Given the description of an element on the screen output the (x, y) to click on. 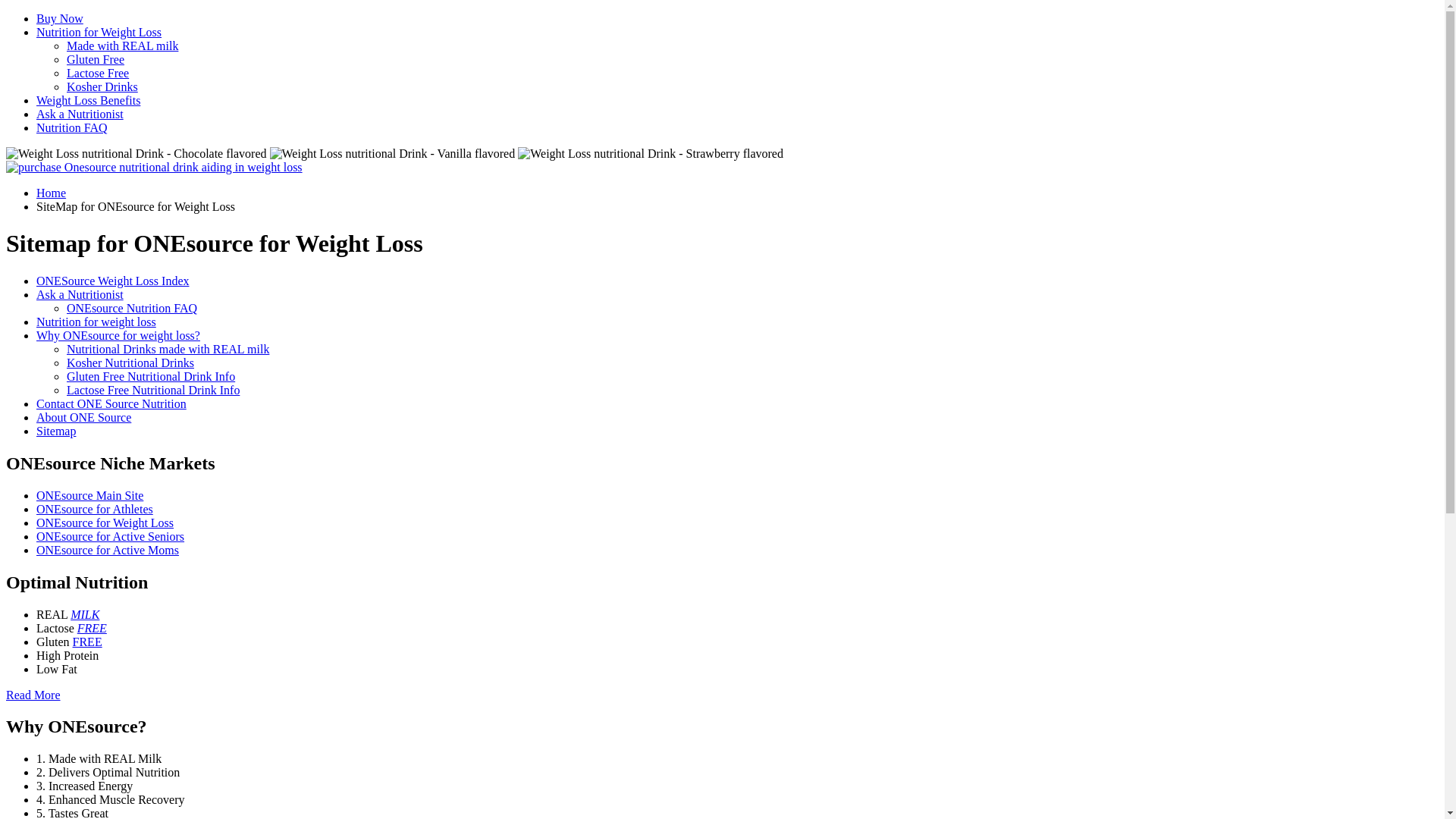
Kosher Drinks Element type: text (102, 86)
Contact ONE Source Nutrition Element type: text (111, 403)
Weight Loss Benefits Element type: text (88, 100)
Buy Now Element type: text (59, 18)
Kosher Nutritional Drinks Element type: text (130, 362)
ONEsource for Weight Loss Element type: text (104, 522)
Gluten Free Element type: text (95, 59)
Ask a Nutritionist Element type: text (79, 294)
ONEsource Main Site Element type: text (89, 495)
Why ONEsource for weight loss? Element type: text (118, 335)
Lactose Free Element type: text (97, 72)
MILK Element type: text (84, 614)
Nutrition for weight loss Element type: text (96, 321)
ONEsource for Active Moms Element type: text (107, 549)
Nutritional Drinks made with REAL milk Element type: text (167, 348)
ONEsource Nutrition FAQ Element type: text (131, 307)
Nutrition for Weight Loss Element type: text (98, 31)
ONEsource for Active Seniors Element type: text (110, 536)
ONEsource for Athletes Element type: text (94, 508)
Home Element type: text (50, 192)
FREE Element type: text (87, 641)
Read More Element type: text (33, 694)
About ONE Source Element type: text (83, 417)
Gluten Free Nutritional Drink Info Element type: text (150, 376)
FREE Element type: text (91, 627)
Ask a Nutritionist Element type: text (79, 113)
Sitemap Element type: text (55, 430)
Nutrition FAQ Element type: text (71, 127)
Made with REAL milk Element type: text (122, 45)
Lactose Free Nutritional Drink Info Element type: text (152, 389)
ONESource Weight Loss Index Element type: text (112, 280)
